Given the description of an element on the screen output the (x, y) to click on. 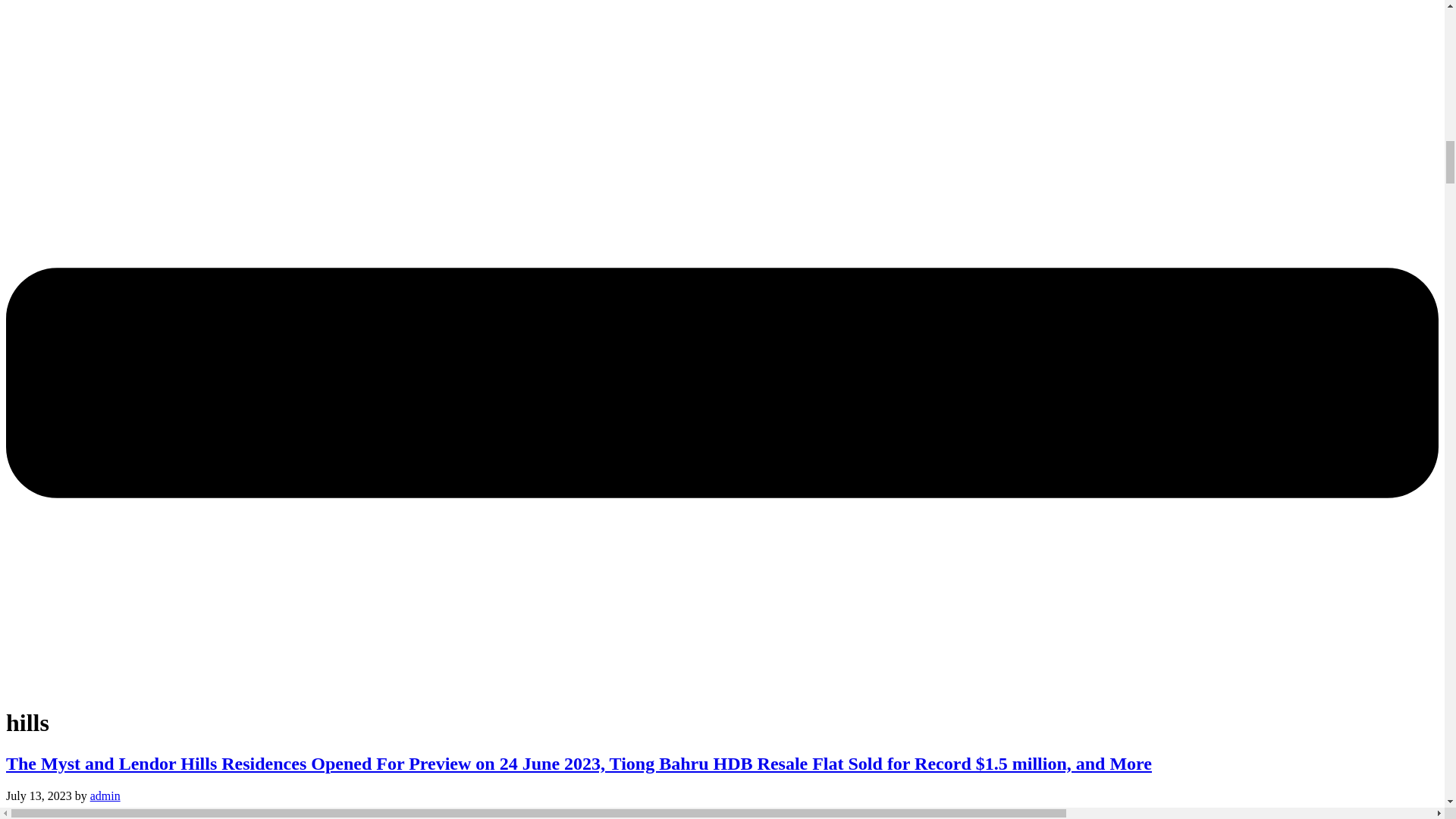
View all posts by admin (105, 795)
